Given the description of an element on the screen output the (x, y) to click on. 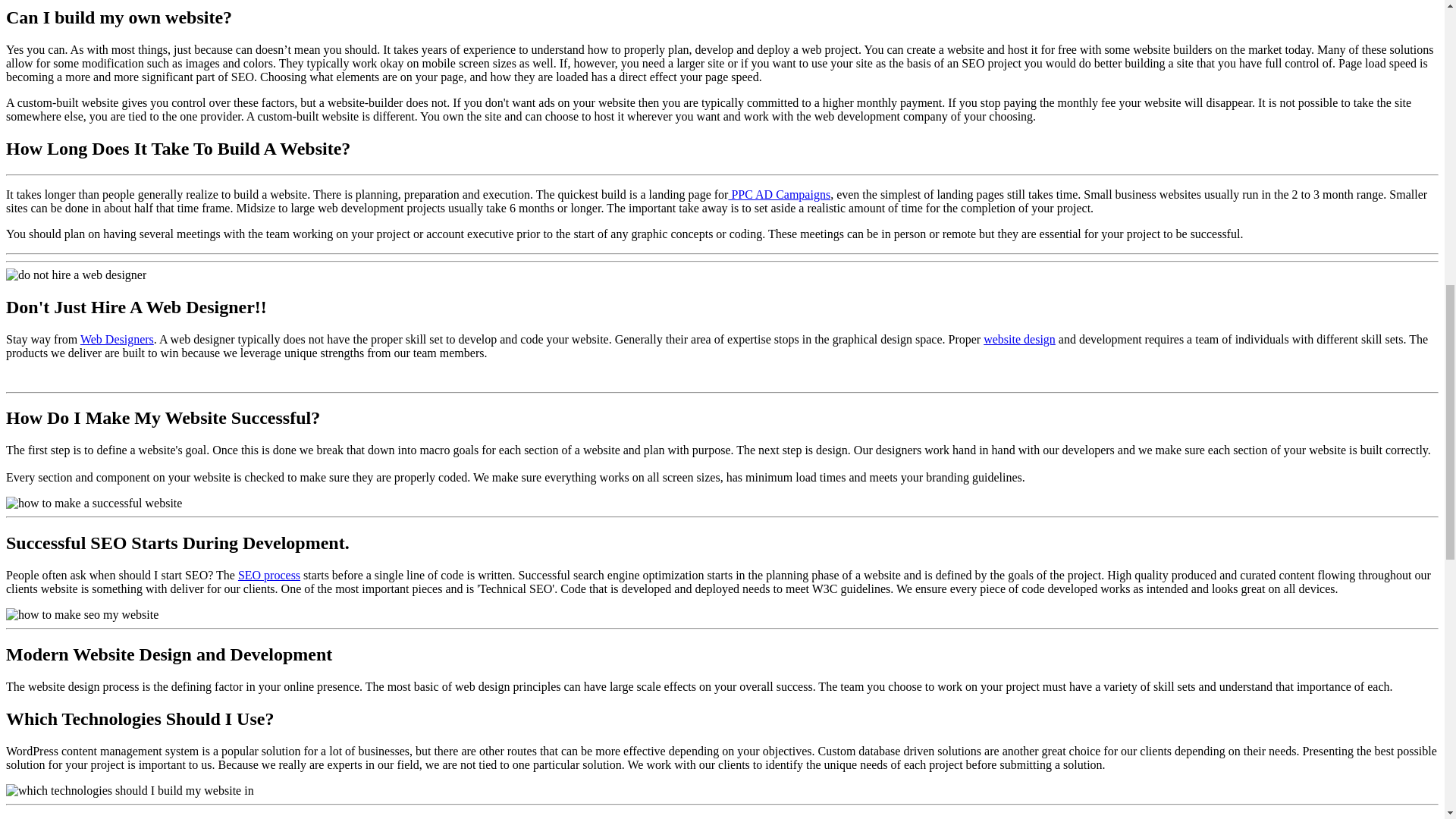
Web Designers (117, 338)
SEO process (268, 574)
PPC AD Campaigns (778, 194)
website design (1019, 338)
